Given the description of an element on the screen output the (x, y) to click on. 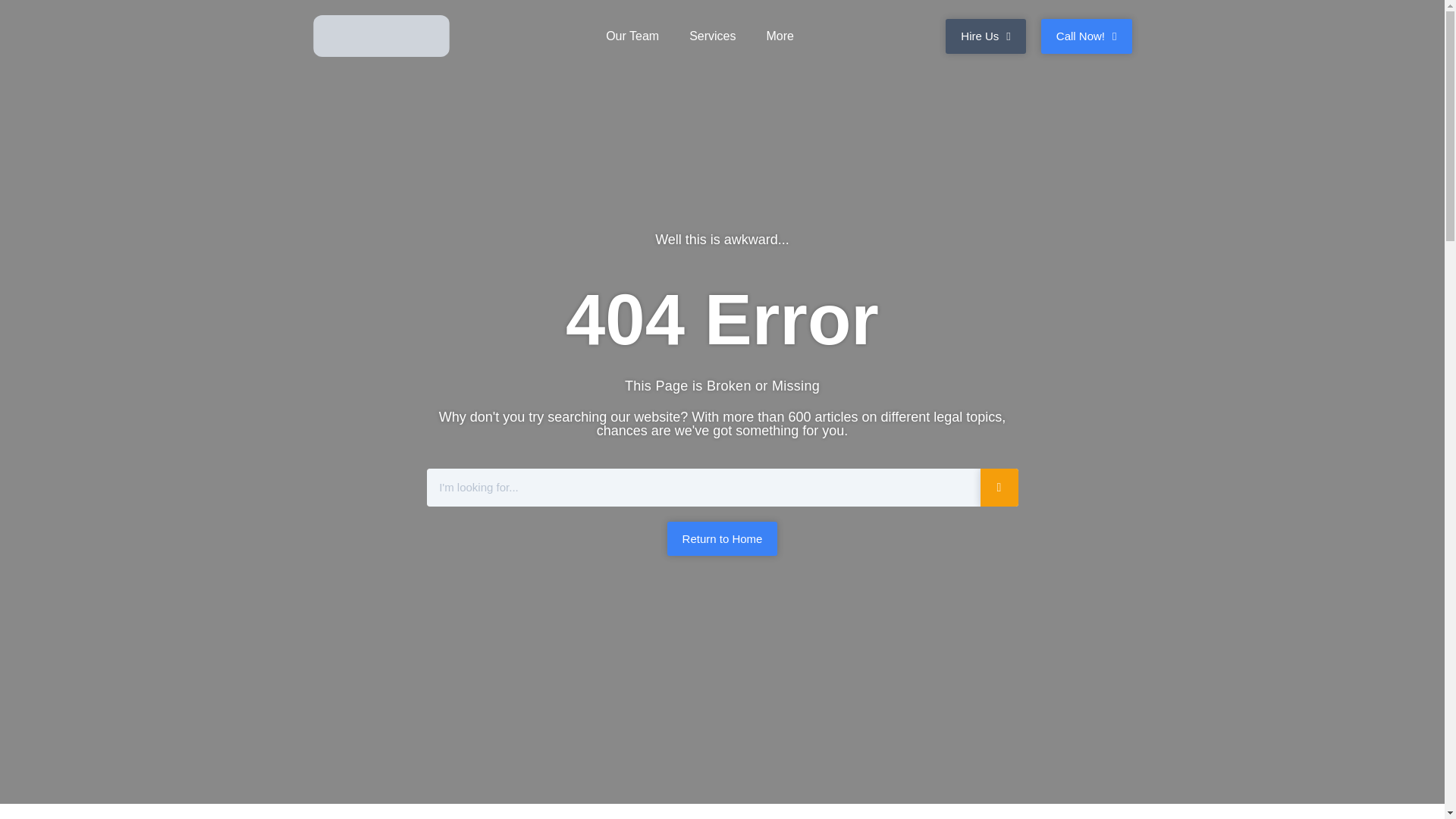
Hire Us (985, 35)
More (779, 35)
Our Team (632, 35)
Return to Home (721, 538)
Services (712, 35)
Call Now! (1086, 35)
